Given the description of an element on the screen output the (x, y) to click on. 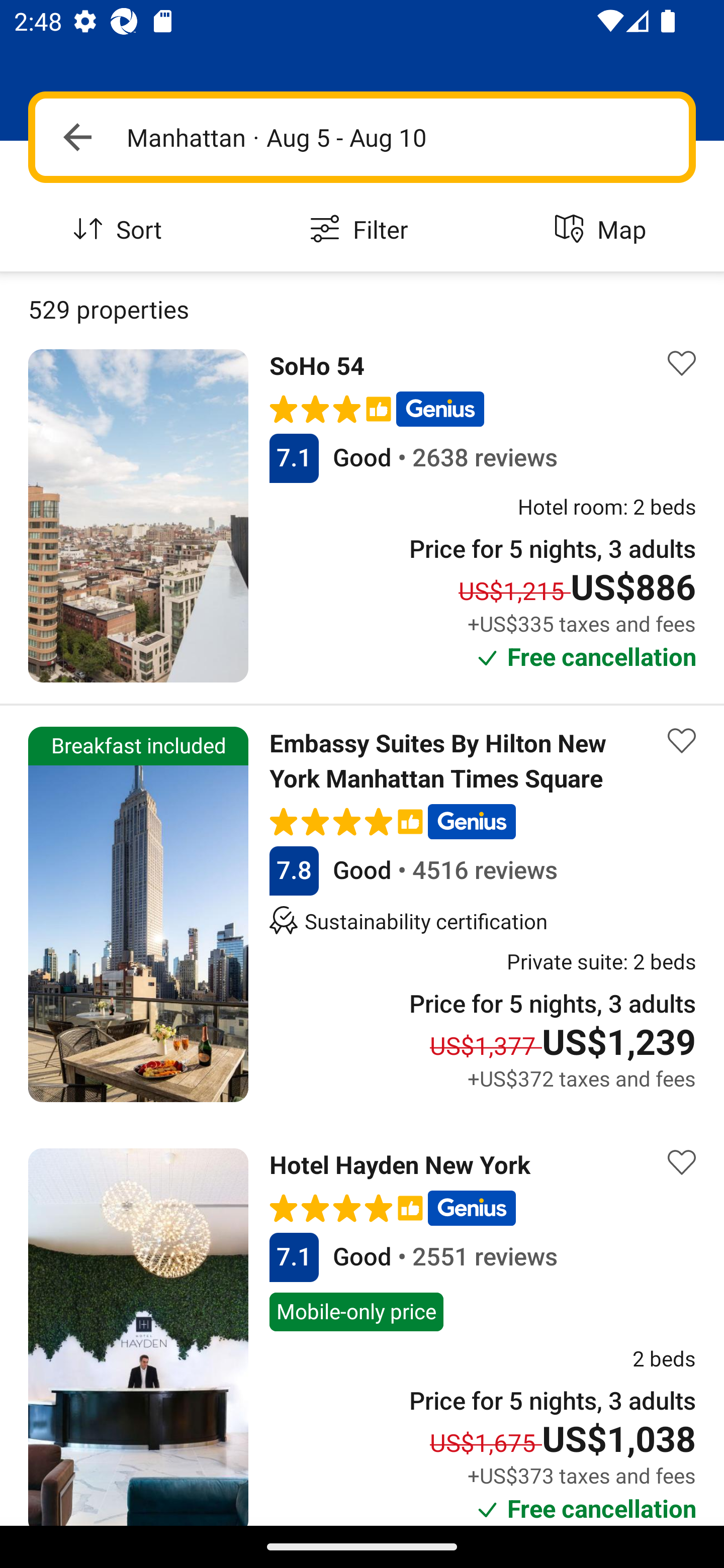
Navigate up Manhattan · Aug 5 - Aug 10 (362, 136)
Navigate up (77, 136)
Sort (120, 230)
Filter (361, 230)
Map (603, 230)
Save property to list (681, 363)
Save property to list (681, 740)
Save property to list (681, 1161)
